Given the description of an element on the screen output the (x, y) to click on. 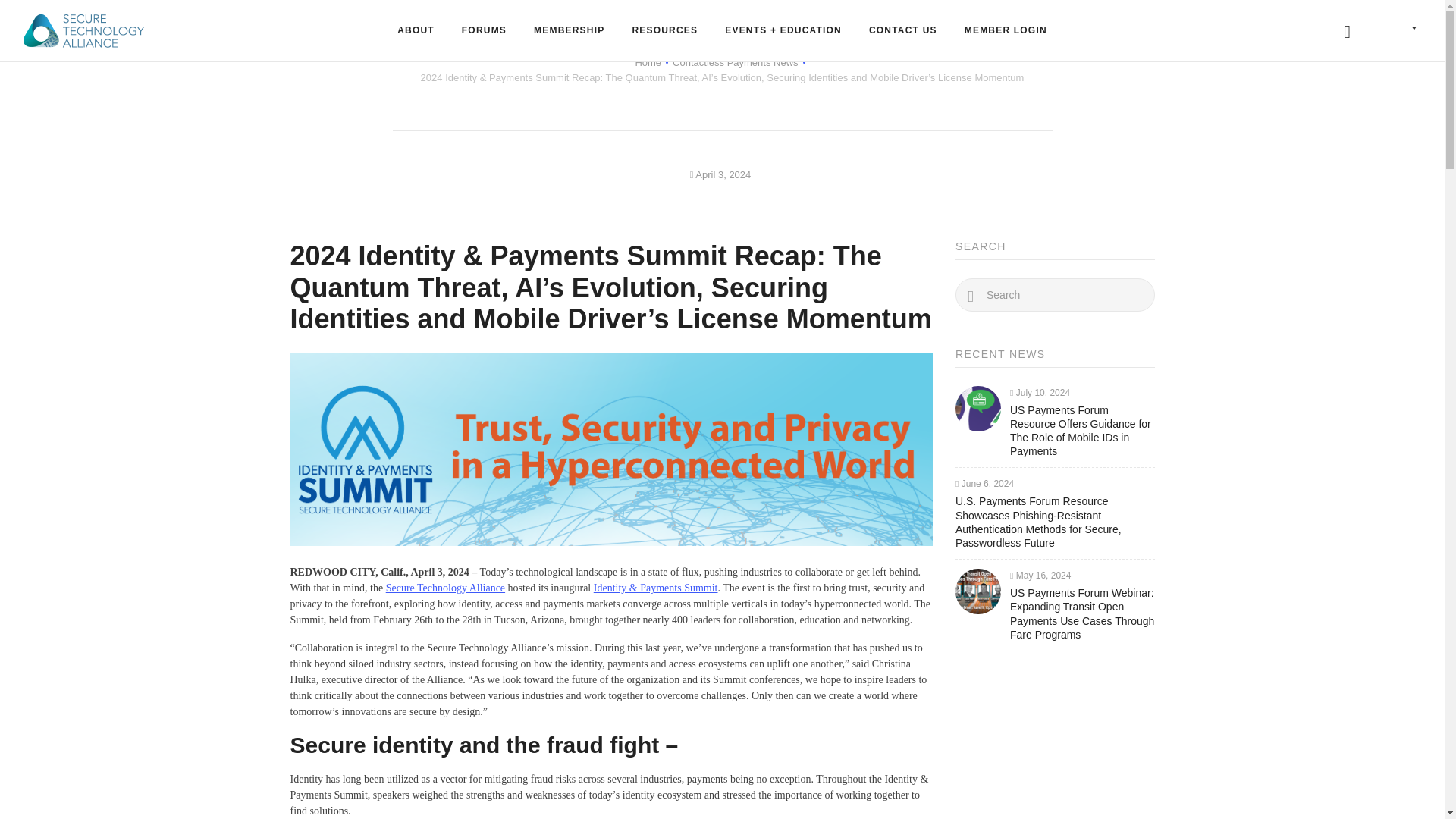
Go to Secure Technology Alliance. (647, 61)
Go to the Contactless Payments News category archives. (734, 61)
